Given the description of an element on the screen output the (x, y) to click on. 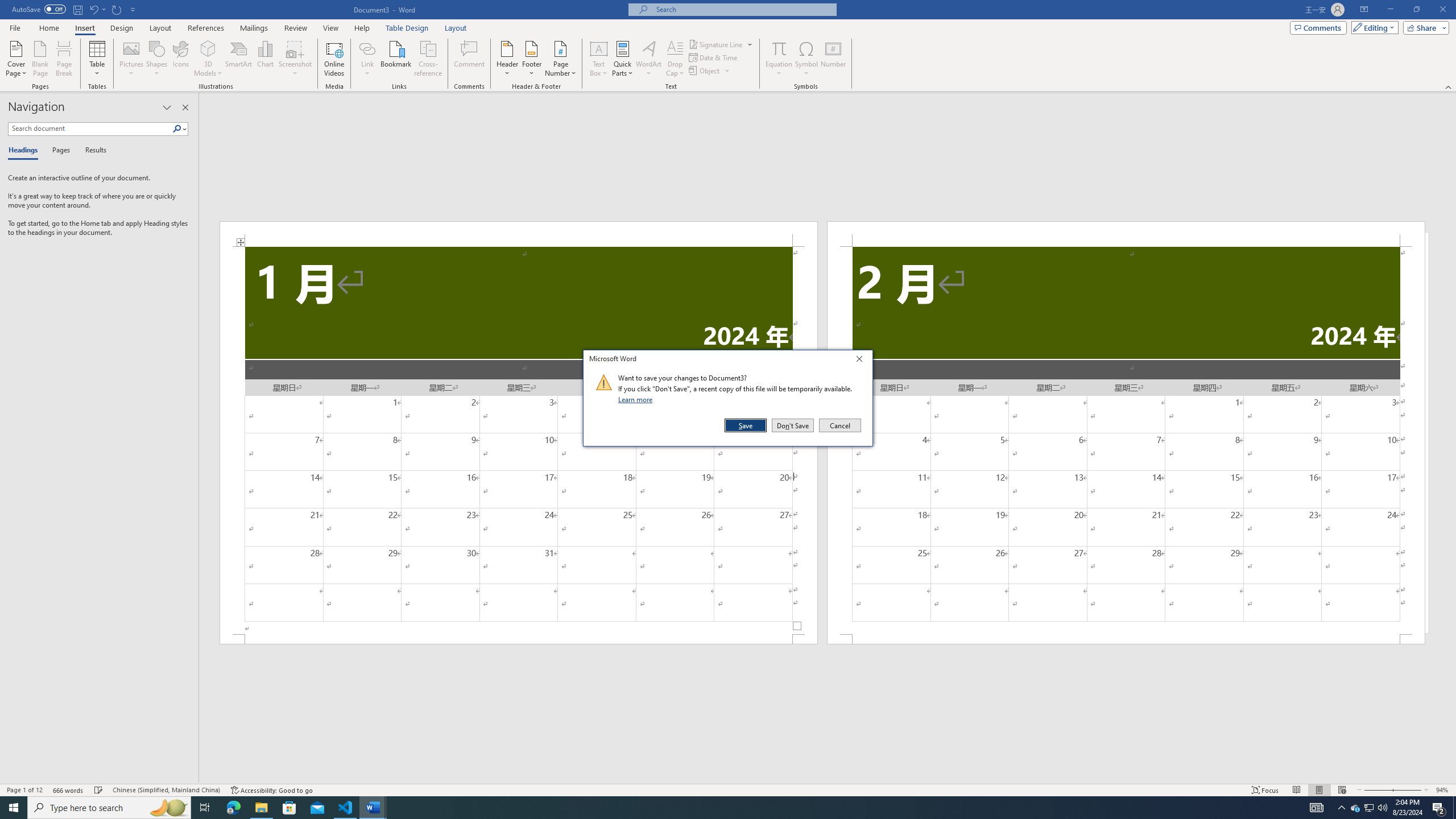
Footer -Section 2- (1126, 638)
Date & Time... (714, 56)
Number... (833, 58)
